Given the description of an element on the screen output the (x, y) to click on. 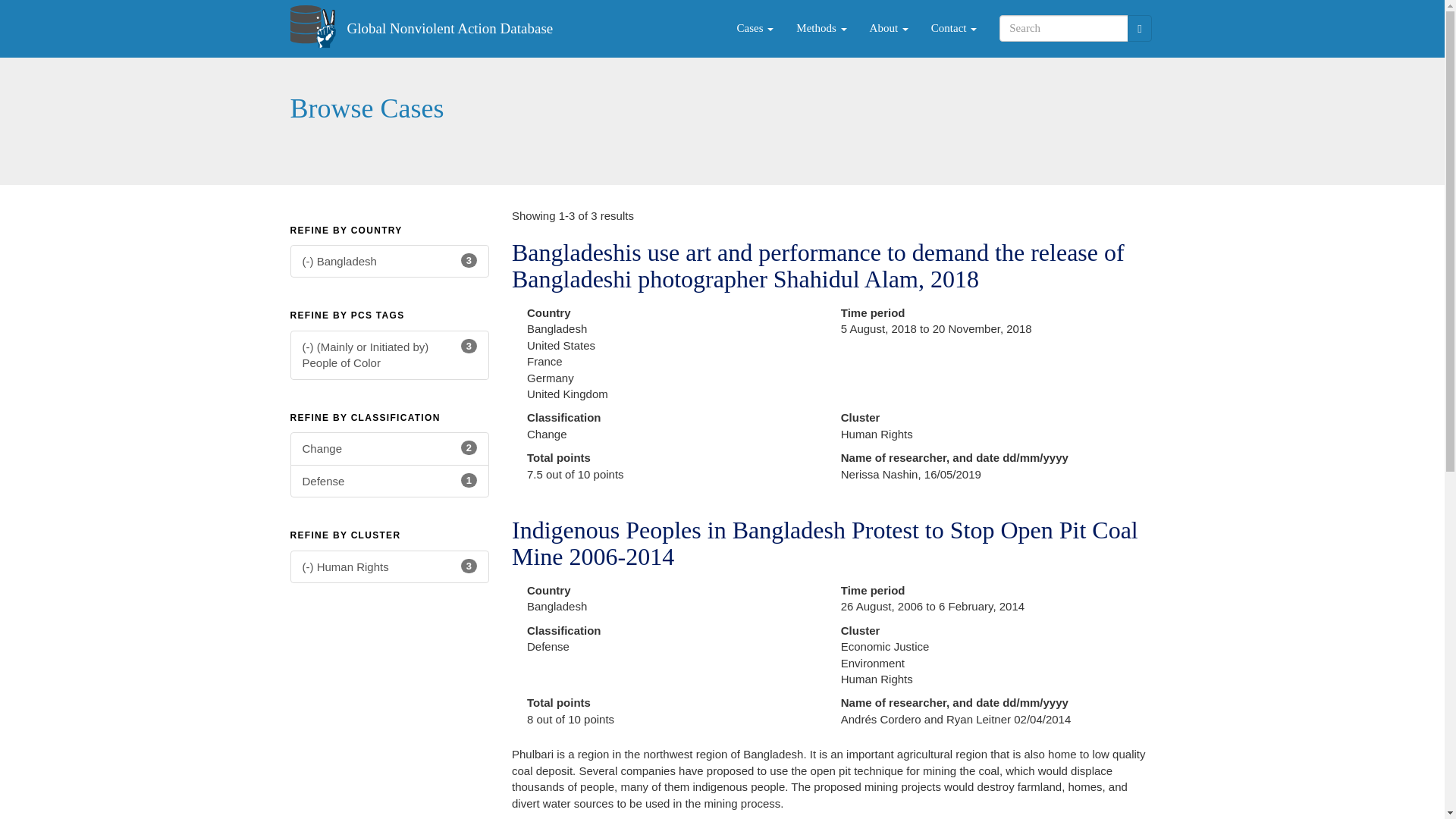
About the Database (889, 28)
Methods (820, 28)
Contact (954, 28)
Contact Us with comments, praise, suggestions (389, 481)
Home (954, 28)
Home (449, 28)
